Given the description of an element on the screen output the (x, y) to click on. 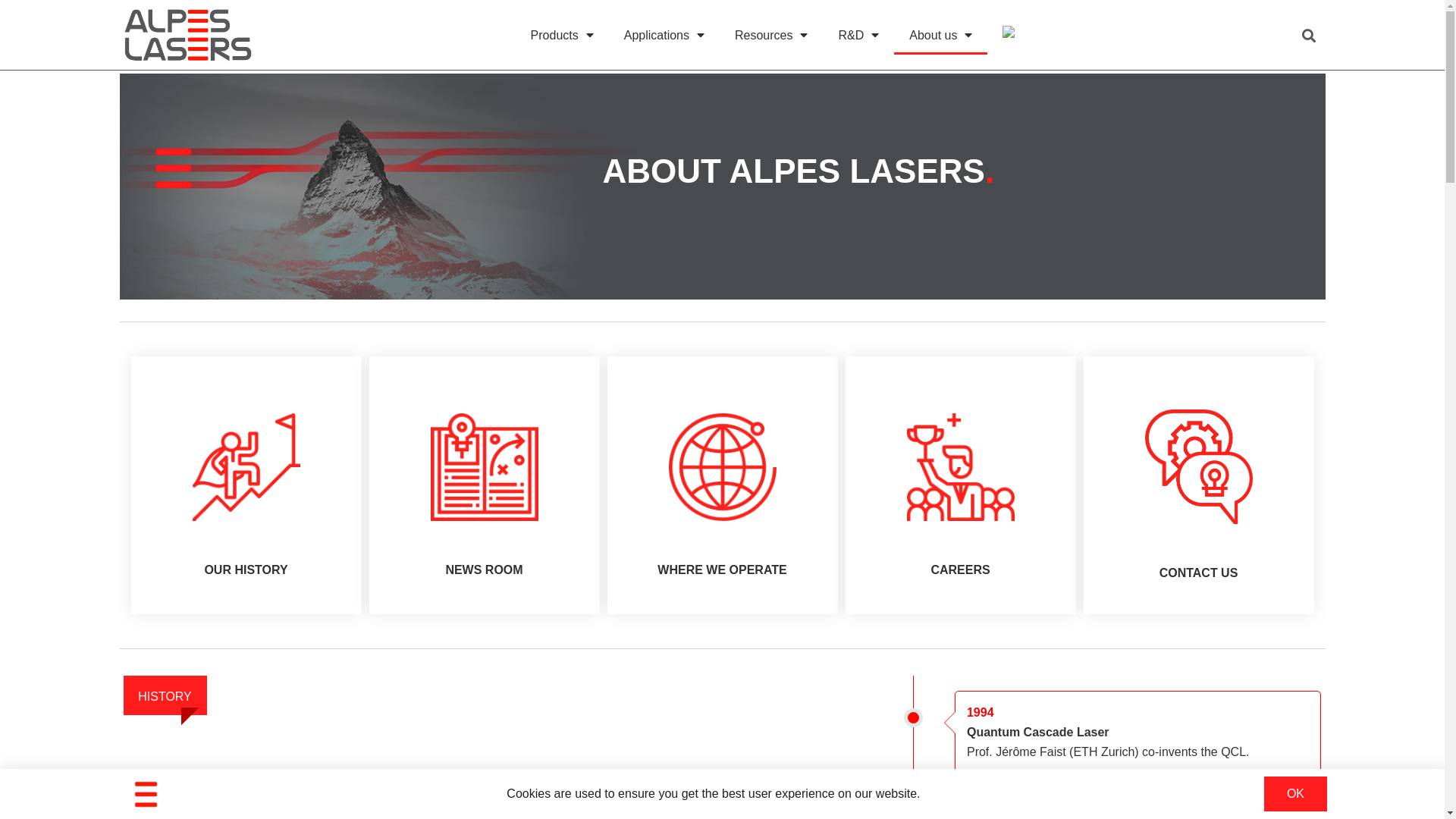
Resources Element type: text (770, 35)
About us Element type: text (940, 35)
Applications Element type: text (663, 35)
Products Element type: text (561, 35)
R&D Element type: text (858, 35)
OK Element type: text (1295, 793)
Web Store Element type: hover (1009, 31)
